Given the description of an element on the screen output the (x, y) to click on. 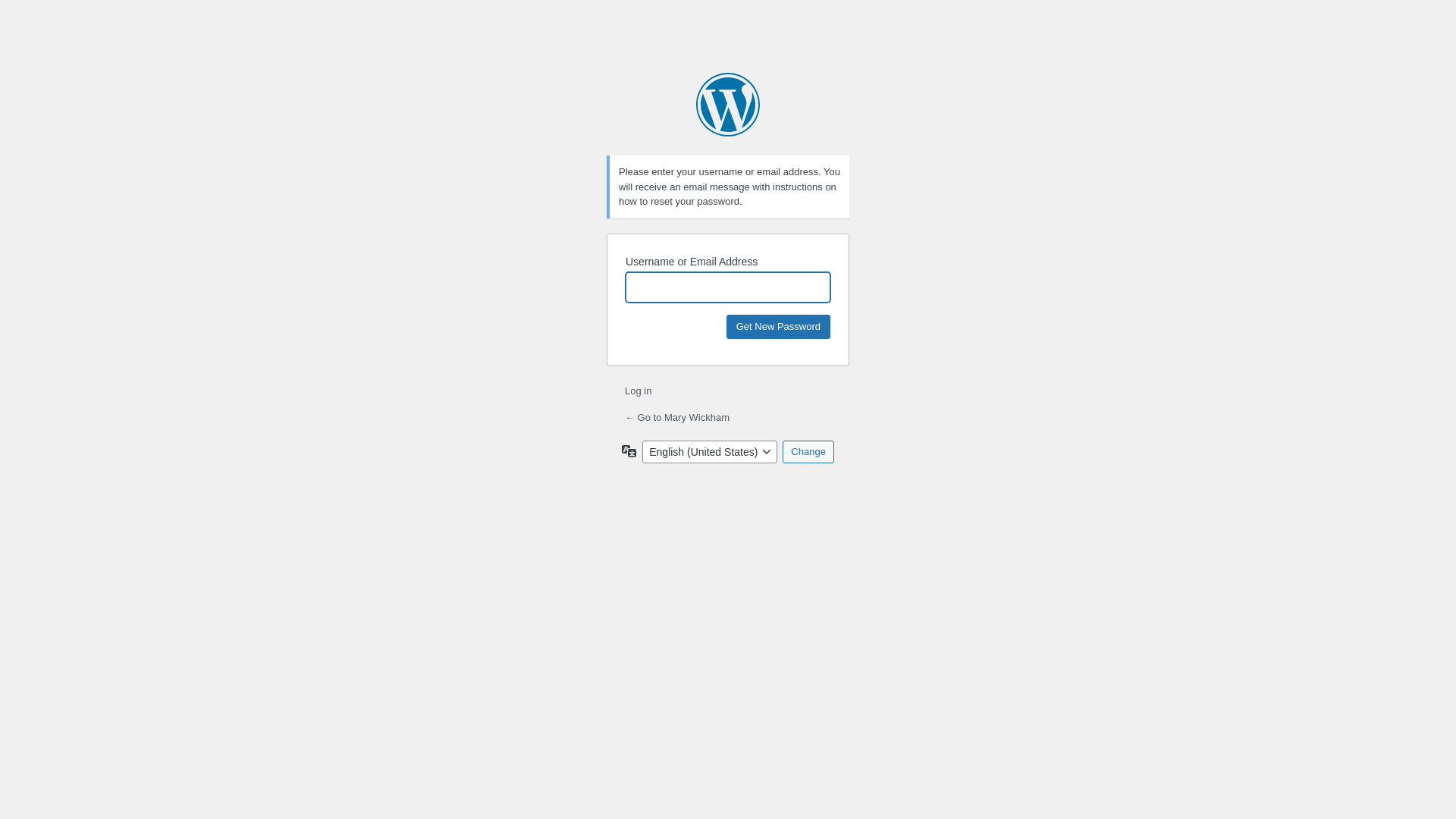
Log in Element type: text (637, 390)
Powered by WordPress Element type: text (727, 104)
Change Element type: text (808, 450)
Get New Password Element type: text (778, 325)
